Given the description of an element on the screen output the (x, y) to click on. 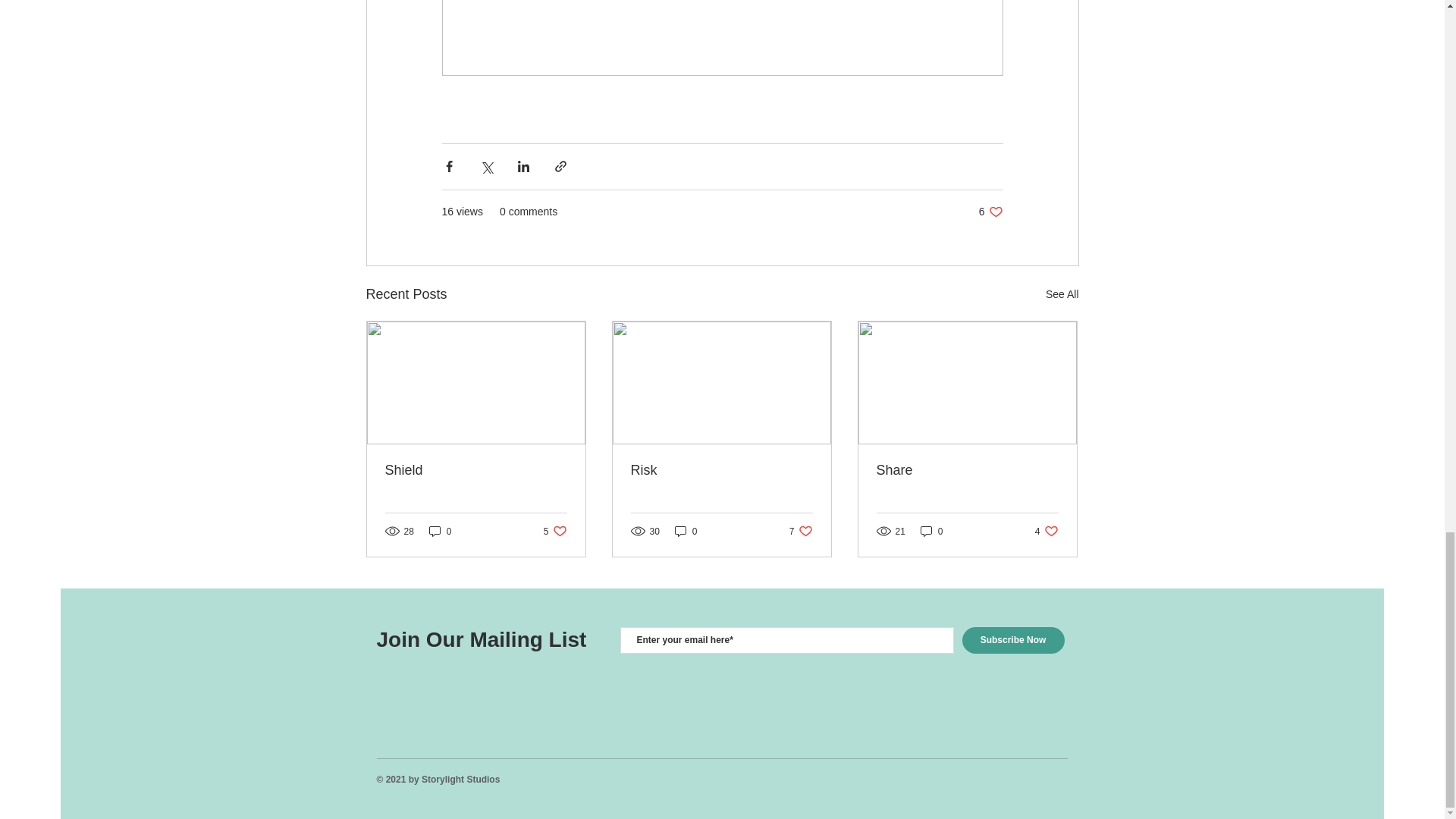
See All (1061, 294)
Shield (476, 470)
0 (685, 531)
0 (1046, 531)
0 (555, 531)
Subscribe Now (931, 531)
